Given the description of an element on the screen output the (x, y) to click on. 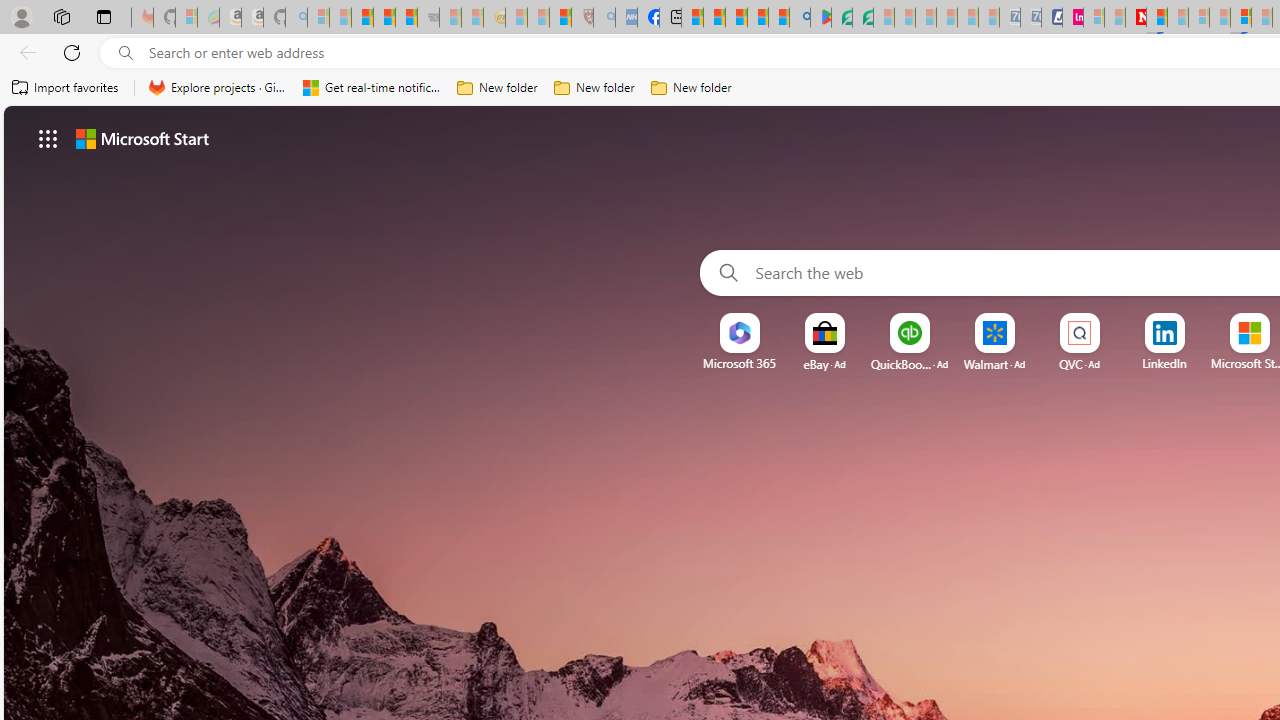
Jobs - lastminute.com Investor Portal (1072, 17)
